Given the description of an element on the screen output the (x, y) to click on. 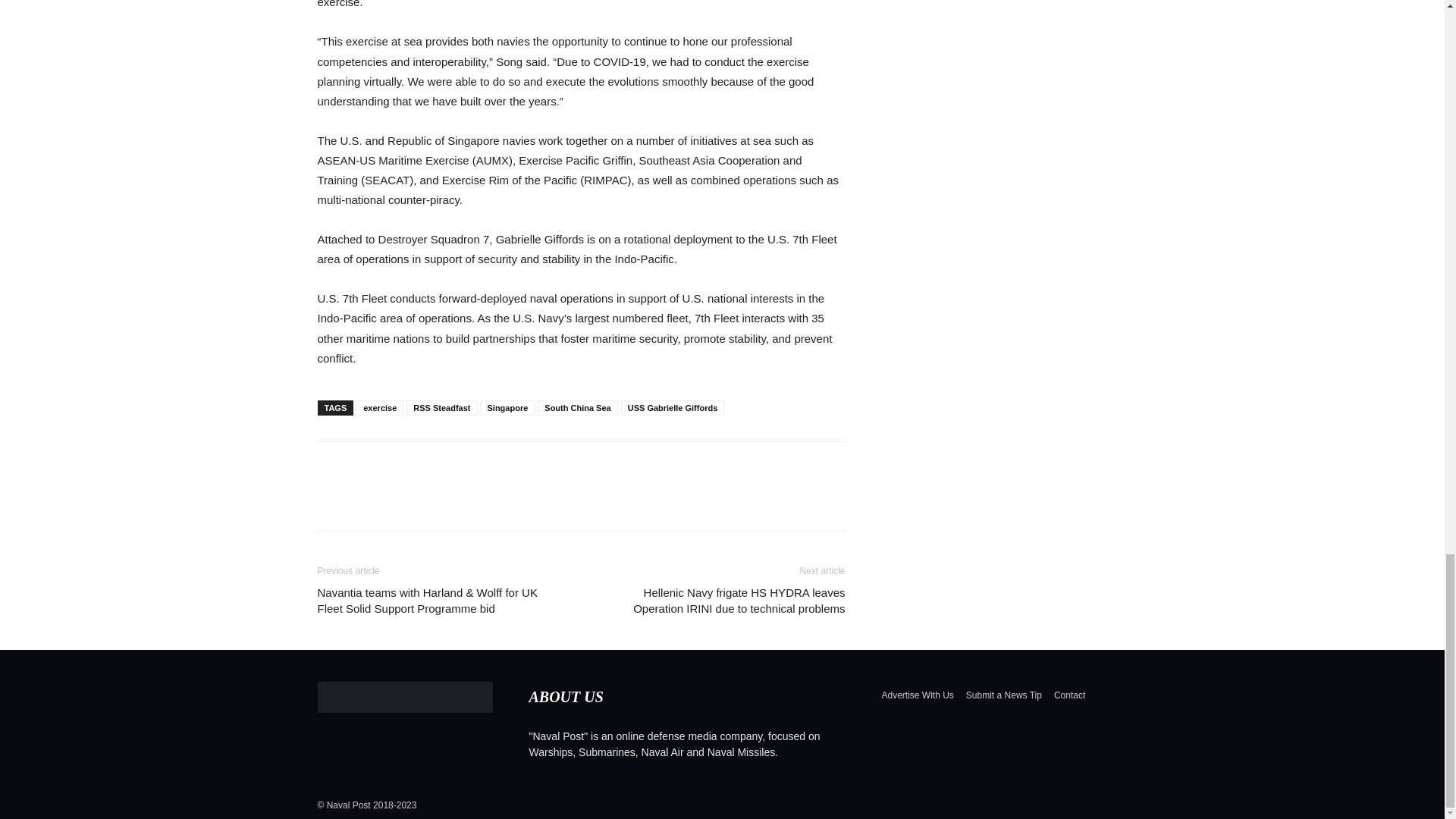
exercise (379, 407)
Singapore (507, 407)
RSS Steadfast (441, 407)
South China Sea (577, 407)
